Given the description of an element on the screen output the (x, y) to click on. 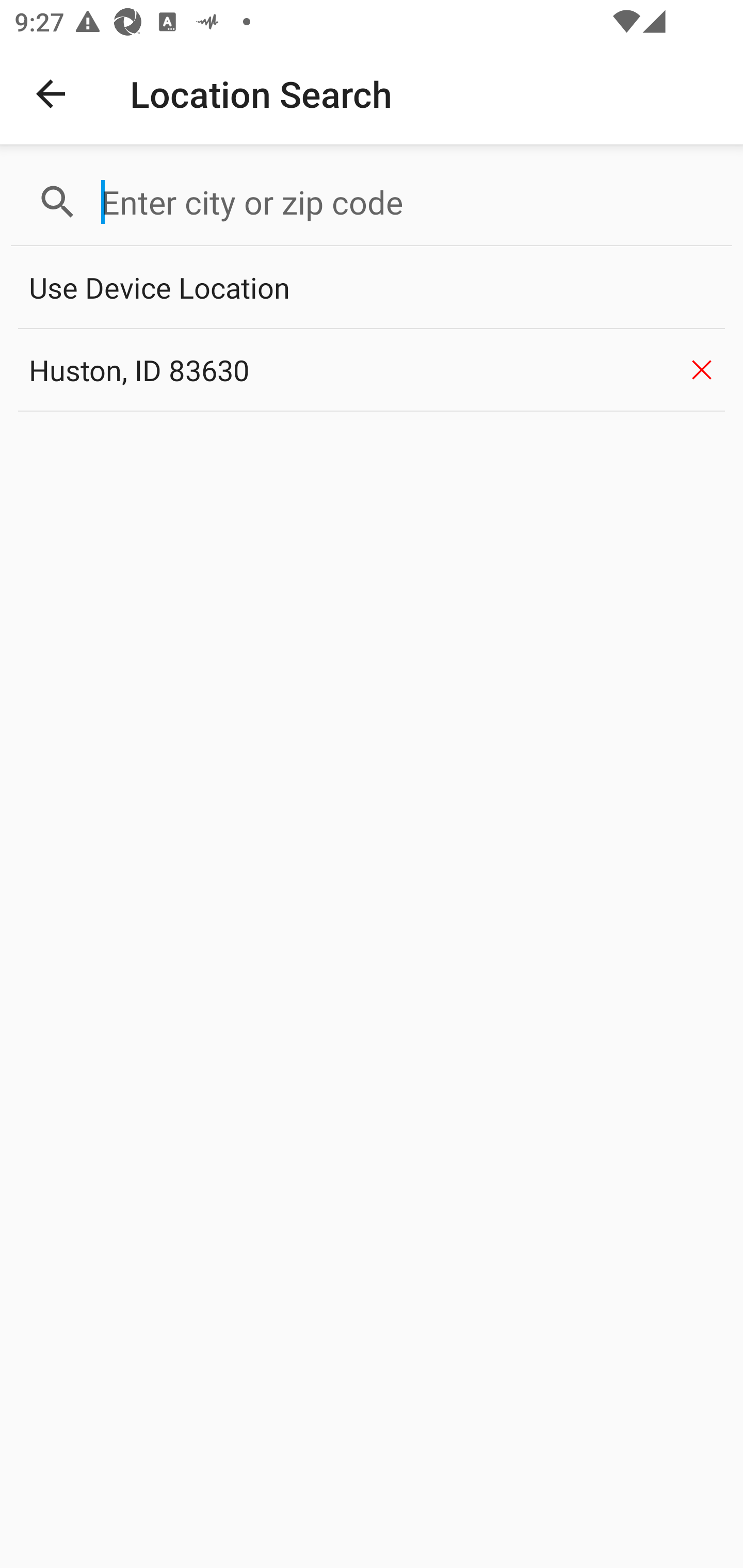
Navigate up (50, 93)
Enter city or zip code (407, 202)
Use Device Location (371, 287)
